Given the description of an element on the screen output the (x, y) to click on. 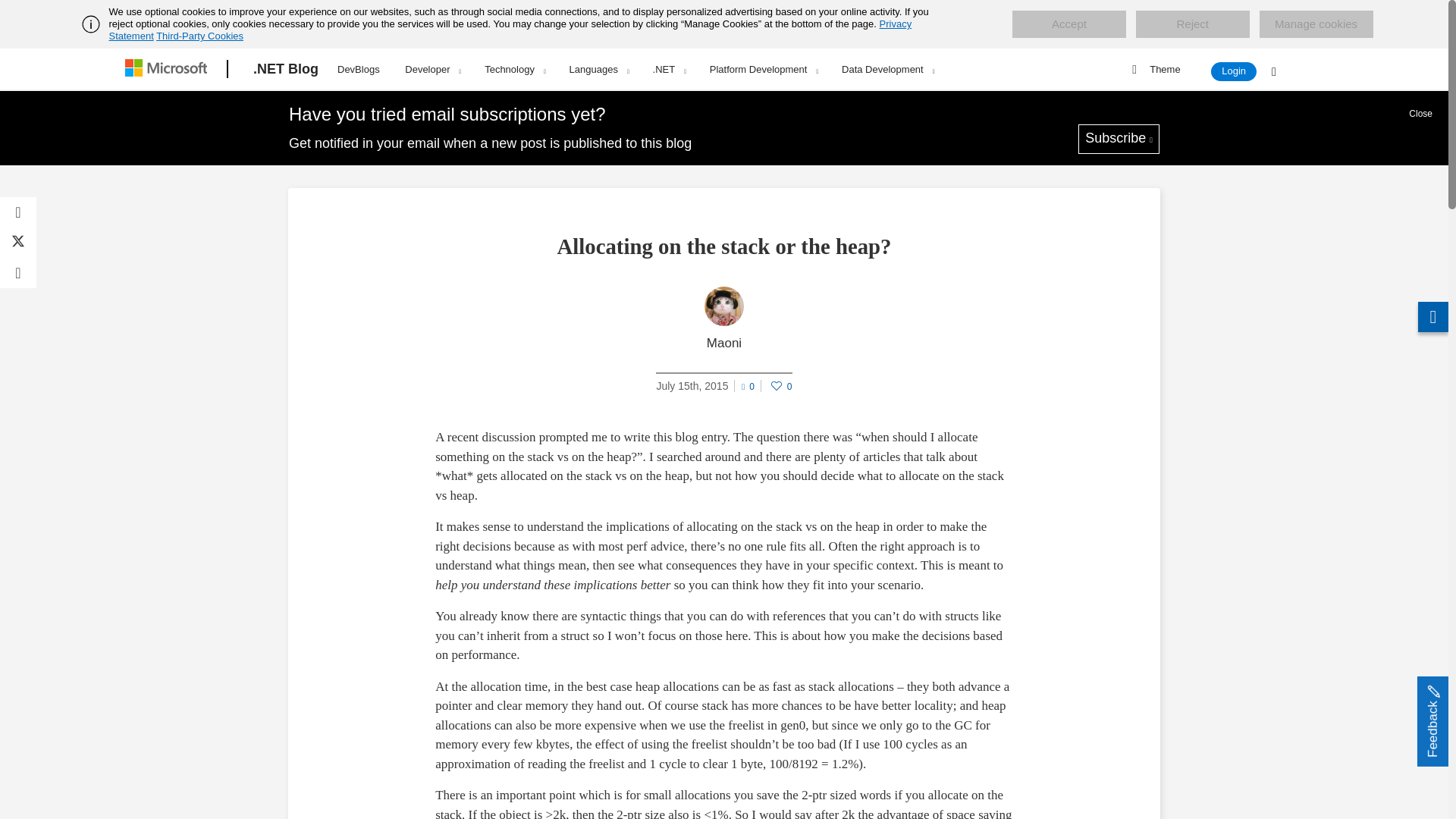
DevBlogs (358, 67)
Share on Twitter (18, 242)
.NET Blog (286, 69)
Share on LinkedIn (18, 272)
Technology (514, 69)
Share on Facebook (18, 212)
Reject (1192, 23)
Manage cookies (1316, 23)
Developer (432, 69)
Privacy Statement (510, 29)
Accept (1068, 23)
Languages (599, 69)
Third-Party Cookies (199, 35)
